Given the description of an element on the screen output the (x, y) to click on. 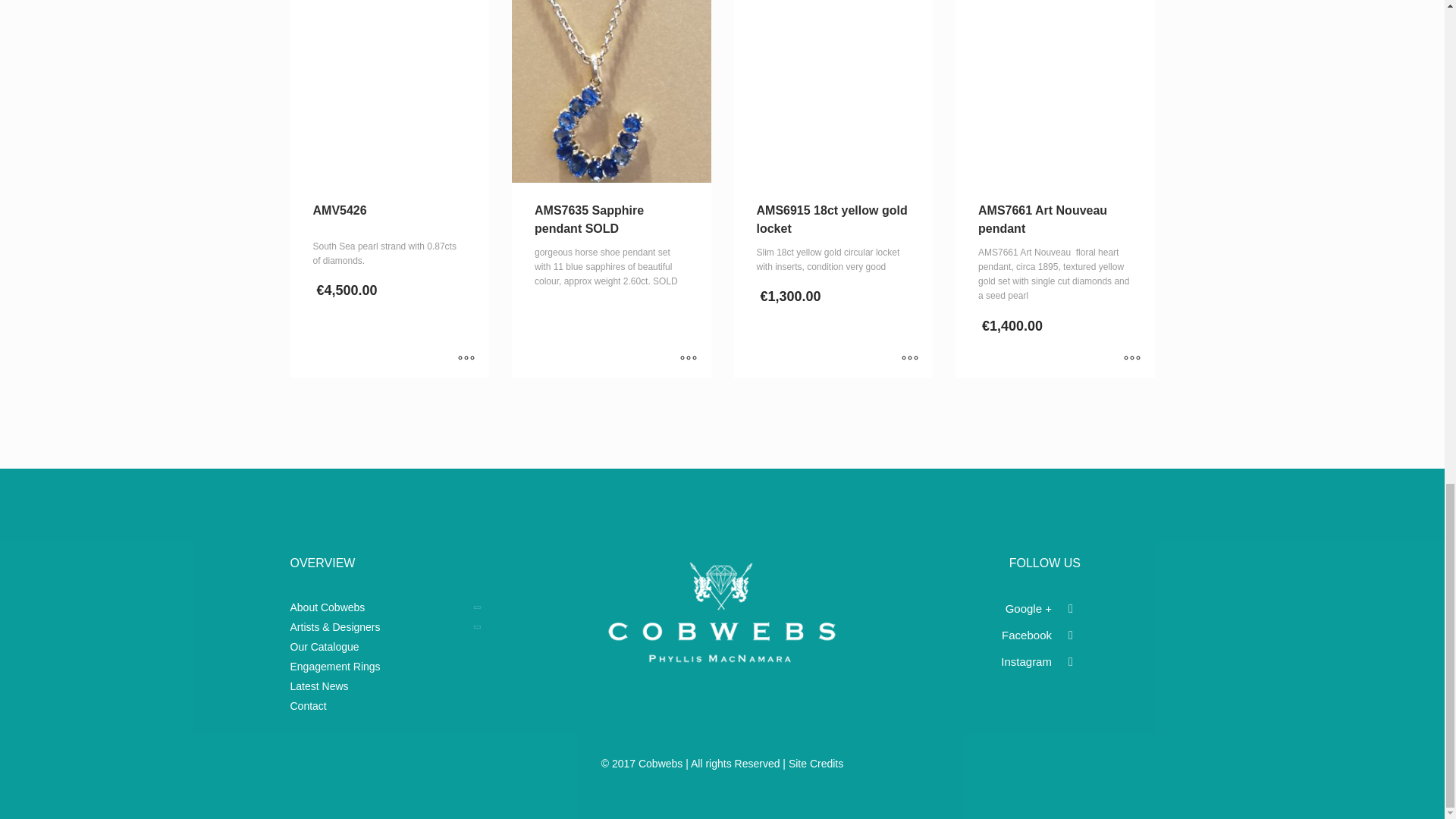
About Cobwebs (389, 607)
